Given the description of an element on the screen output the (x, y) to click on. 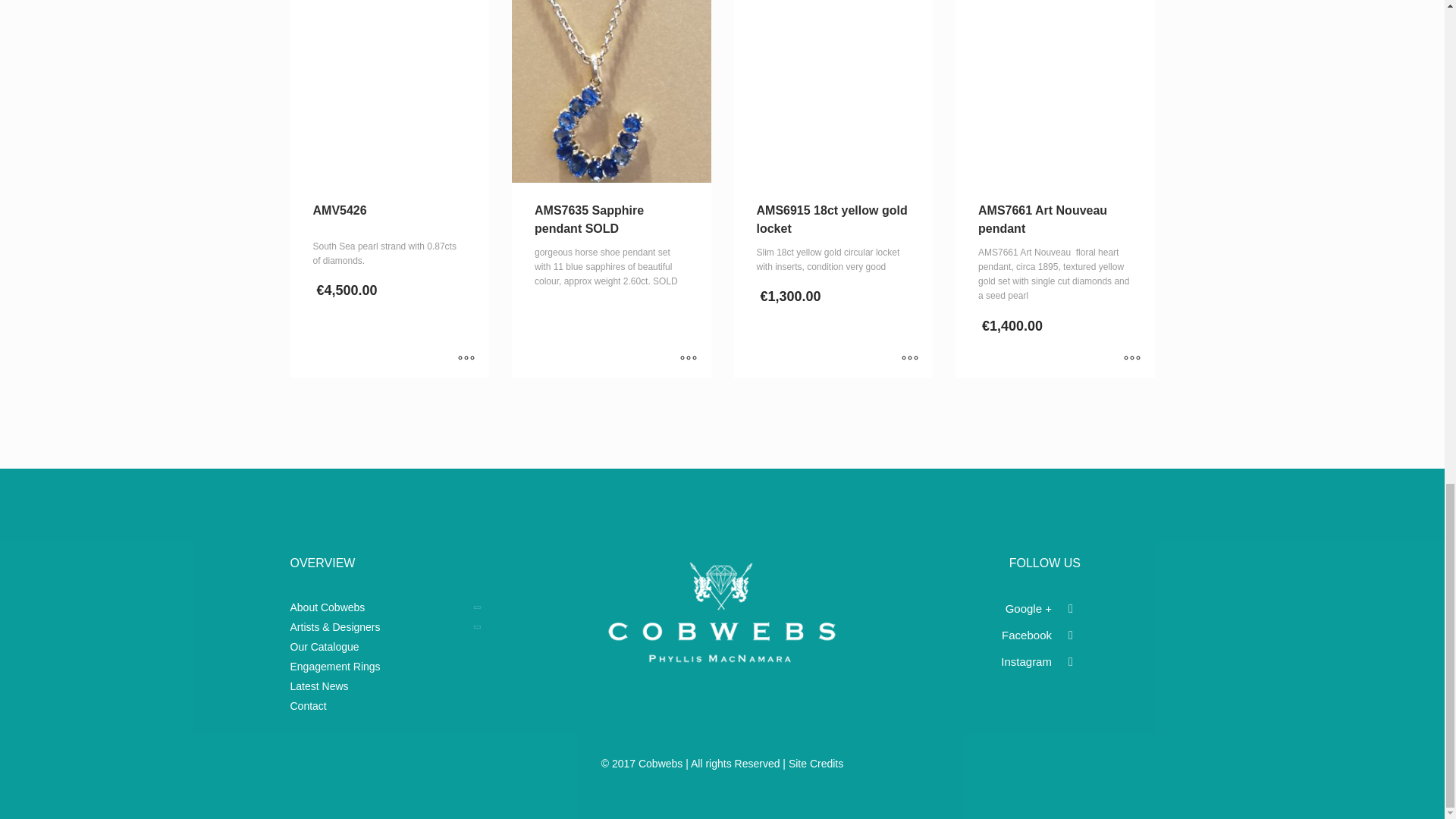
About Cobwebs (389, 607)
